Given the description of an element on the screen output the (x, y) to click on. 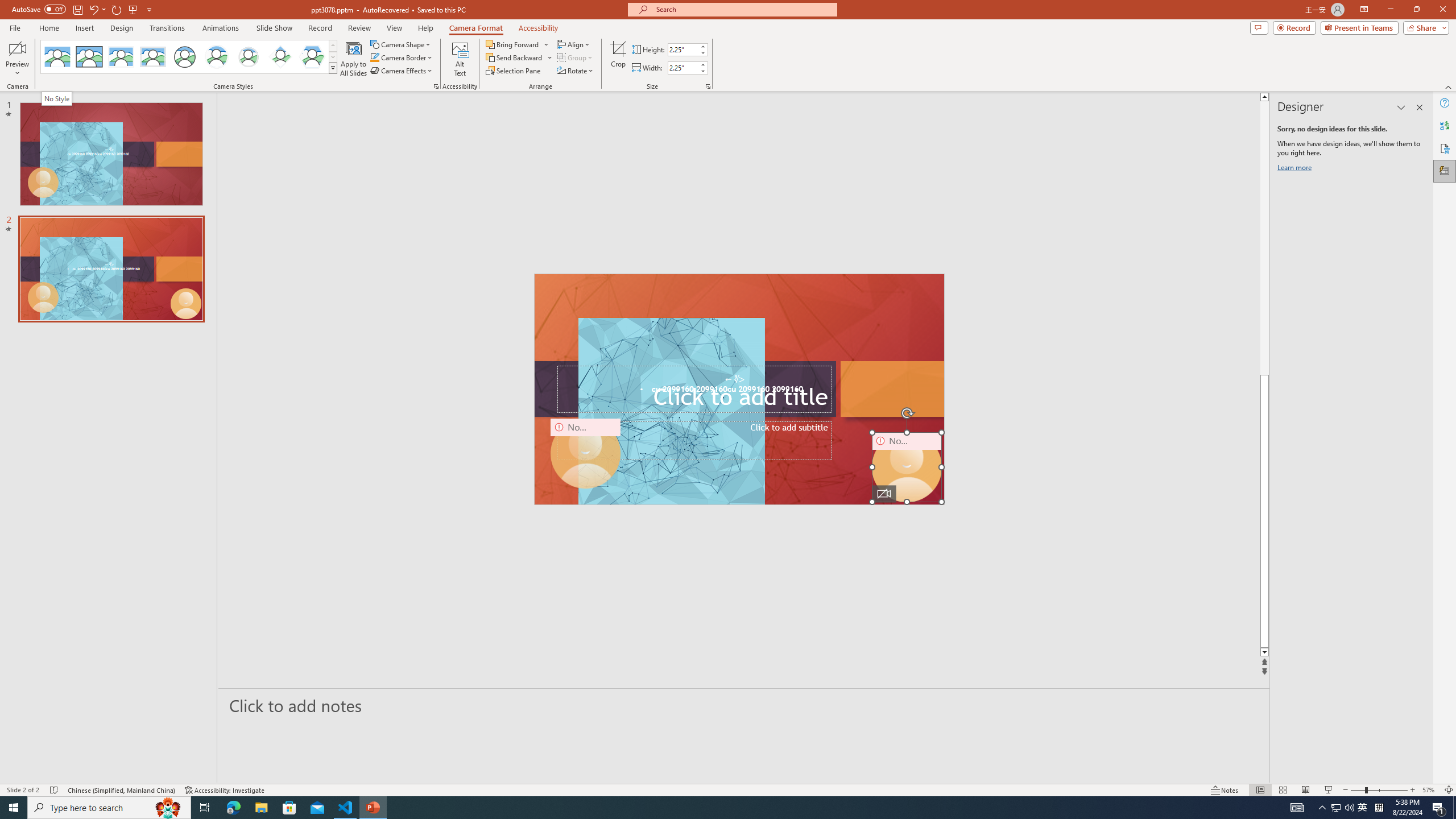
Slide Show (273, 28)
TextBox 61 (737, 390)
Camera 9, No camera detected. (584, 453)
Undo (96, 9)
AutomationID: CameoStylesGallery (189, 56)
Size and Position... (707, 85)
From Beginning (133, 9)
Subtitle TextBox (694, 440)
More (702, 64)
Camera Format (475, 28)
Spell Check No Errors (54, 790)
Rotate (575, 69)
Crop (617, 58)
View (395, 28)
Cameo Width (682, 67)
